Given the description of an element on the screen output the (x, y) to click on. 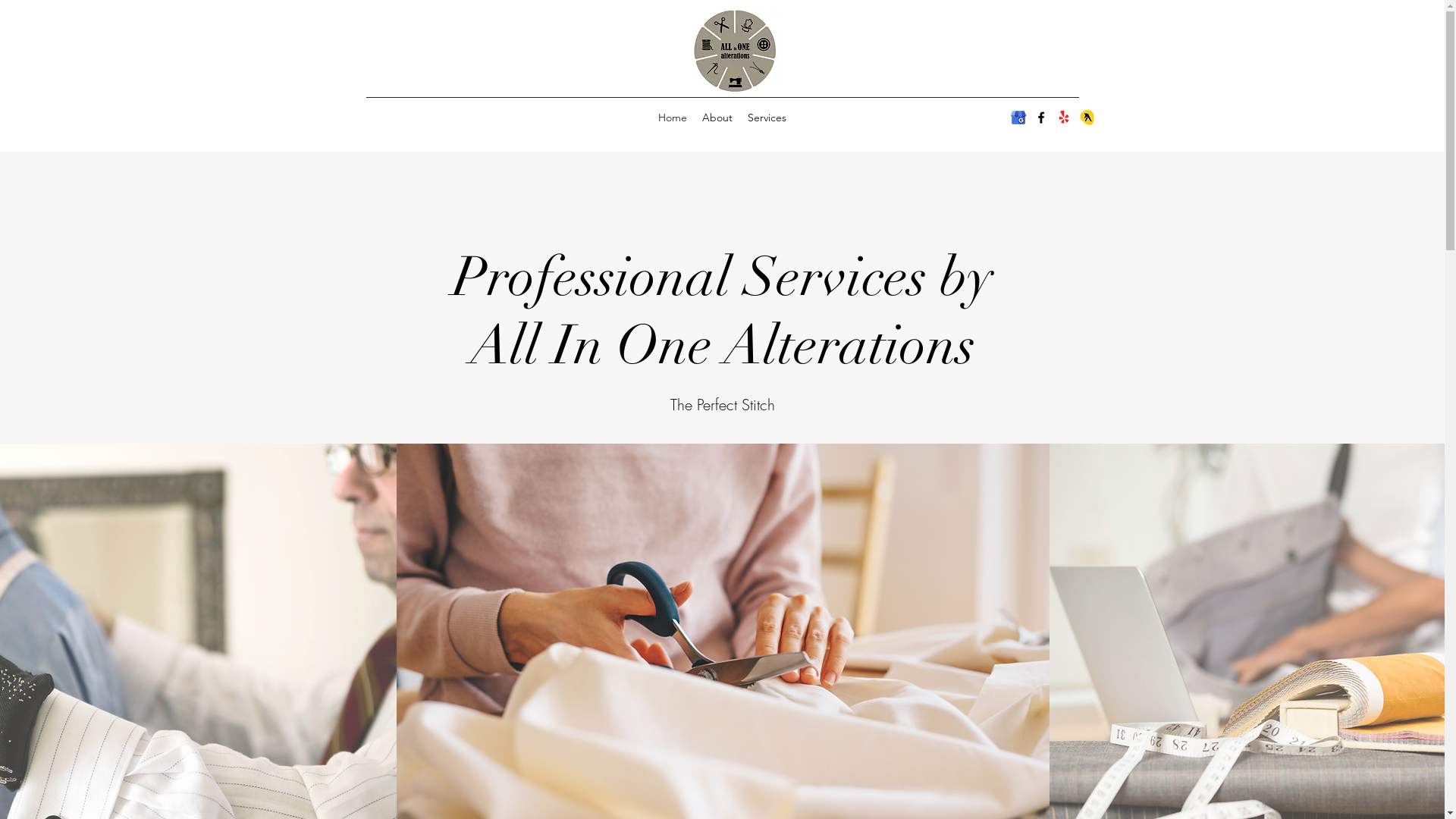
About Element type: text (717, 117)
Home Element type: text (672, 117)
Services Element type: text (766, 117)
